Given the description of an element on the screen output the (x, y) to click on. 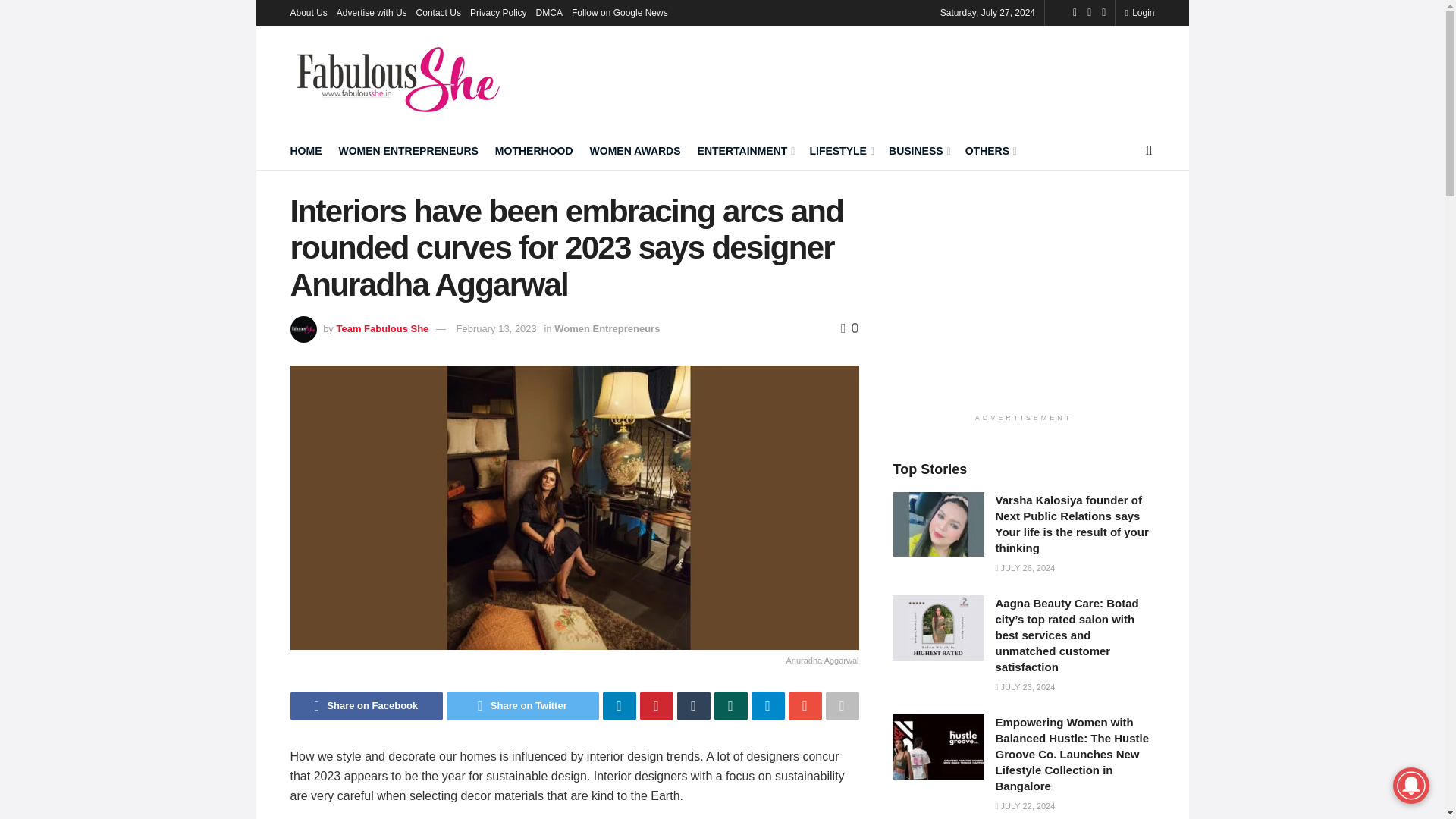
BUSINESS (918, 150)
Contact Us (438, 12)
DMCA (548, 12)
Login (1139, 12)
Privacy Policy (498, 12)
WOMEN ENTREPRENEURS (407, 150)
OTHERS (989, 150)
Advertise with Us (371, 12)
About Us (307, 12)
ENTERTAINMENT (745, 150)
LIFESTYLE (840, 150)
MOTHERHOOD (534, 150)
WOMEN AWARDS (635, 150)
Advertisement (1023, 299)
Follow on Google News (620, 12)
